Given the description of an element on the screen output the (x, y) to click on. 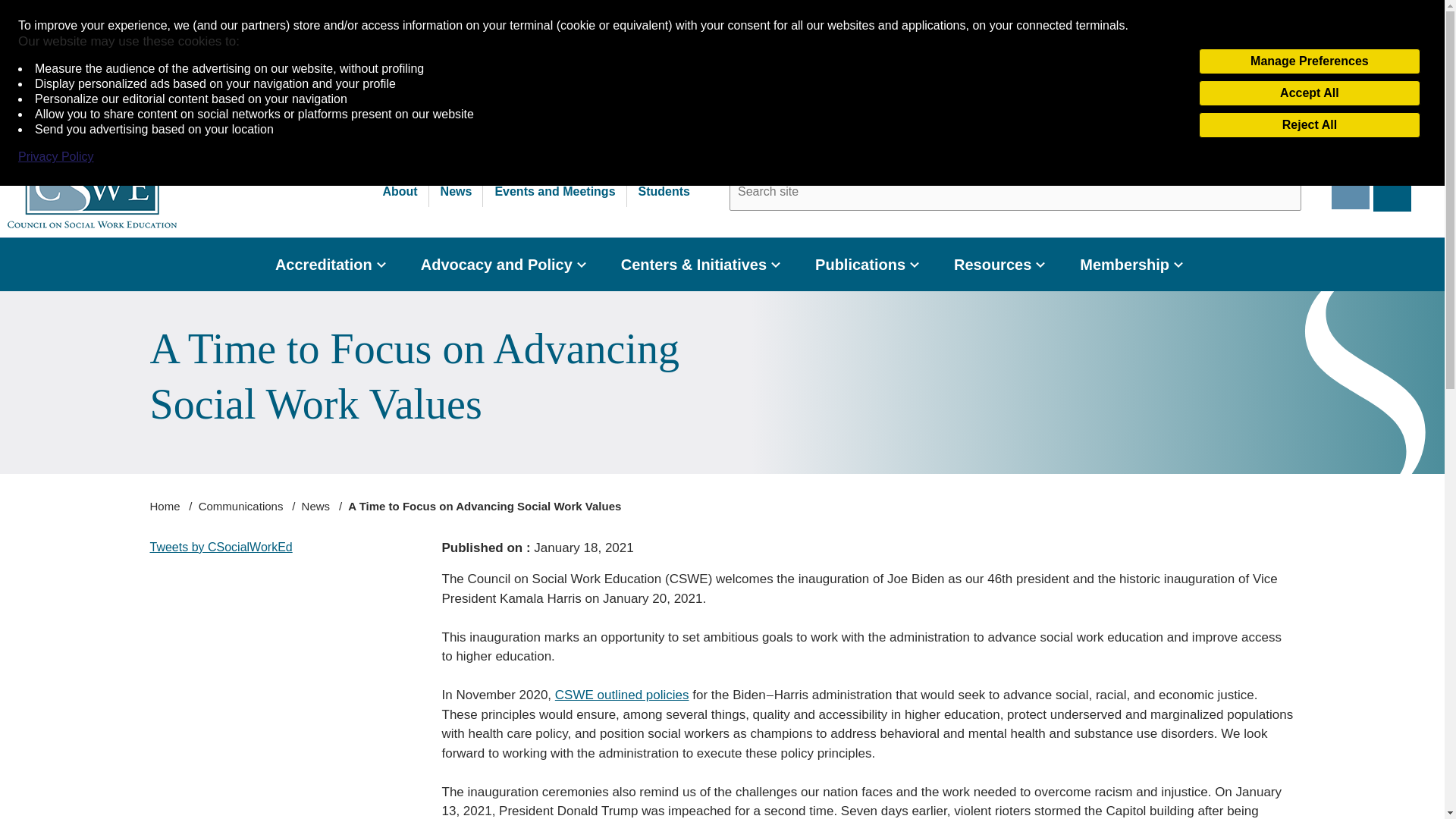
Events and Meetings (554, 191)
privacy policy (278, 113)
Privacy Policy (55, 156)
Reject All (1309, 125)
Submit search (1279, 191)
I agree (1368, 76)
cookie policy (381, 113)
Accept All (1309, 93)
I agree (1368, 76)
About (399, 191)
Manage Preferences (1309, 61)
Students (664, 191)
MORE INFORMATION (1241, 76)
News (456, 191)
Close Cookie Consent (1428, 17)
